Given the description of an element on the screen output the (x, y) to click on. 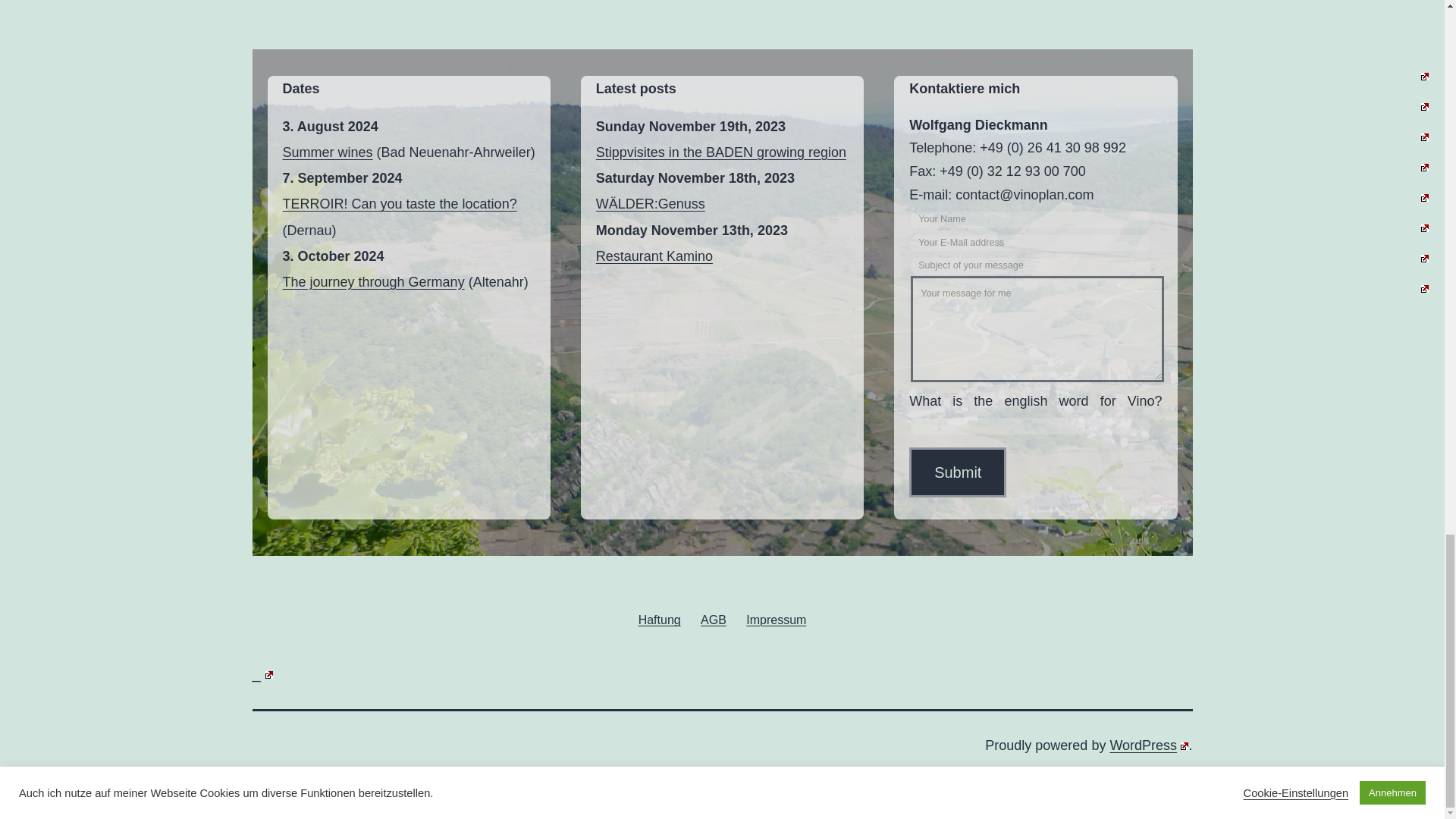
Summer wines (327, 151)
Summer wines (327, 151)
Submit (957, 472)
The journey through Germany (373, 281)
TERROIR! Can you taste the location? (399, 203)
TERROIR! Can you taste the location? (399, 203)
